Given the description of an element on the screen output the (x, y) to click on. 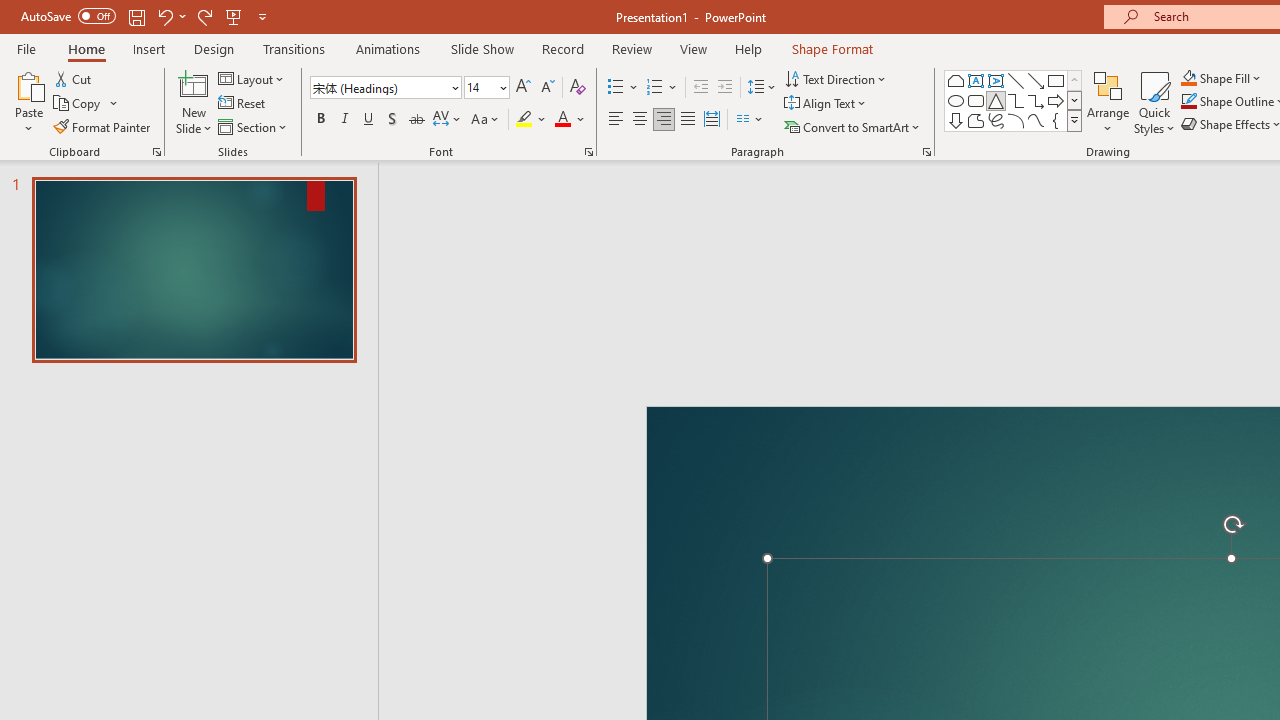
Rectangle: Top Corners Snipped (955, 80)
